Given the description of an element on the screen output the (x, y) to click on. 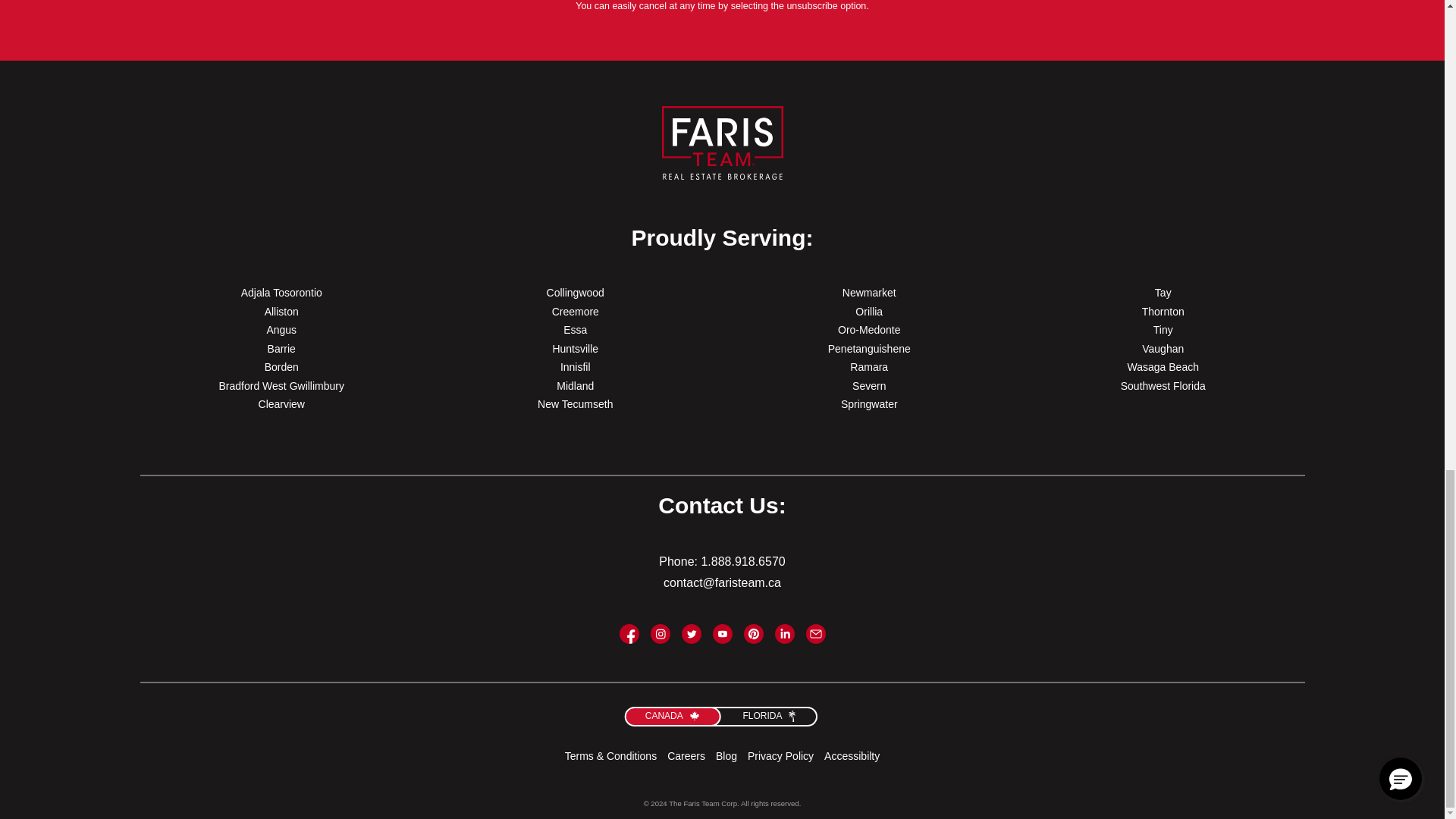
Alliston (281, 311)
Faris Team on Twitter (690, 633)
Angus (281, 329)
Adjala Tosorontio (281, 292)
Borden (281, 367)
Email Faris Team (815, 633)
Faris Team on YouTube (722, 633)
Bradford West Gwillimbury (281, 386)
Barrie (281, 348)
Faris Team on Facebook (628, 633)
Faris Team on LinkedIn (784, 633)
Faris Team on Instagram (659, 633)
Faris Team on Pinterest (752, 633)
